Given the description of an element on the screen output the (x, y) to click on. 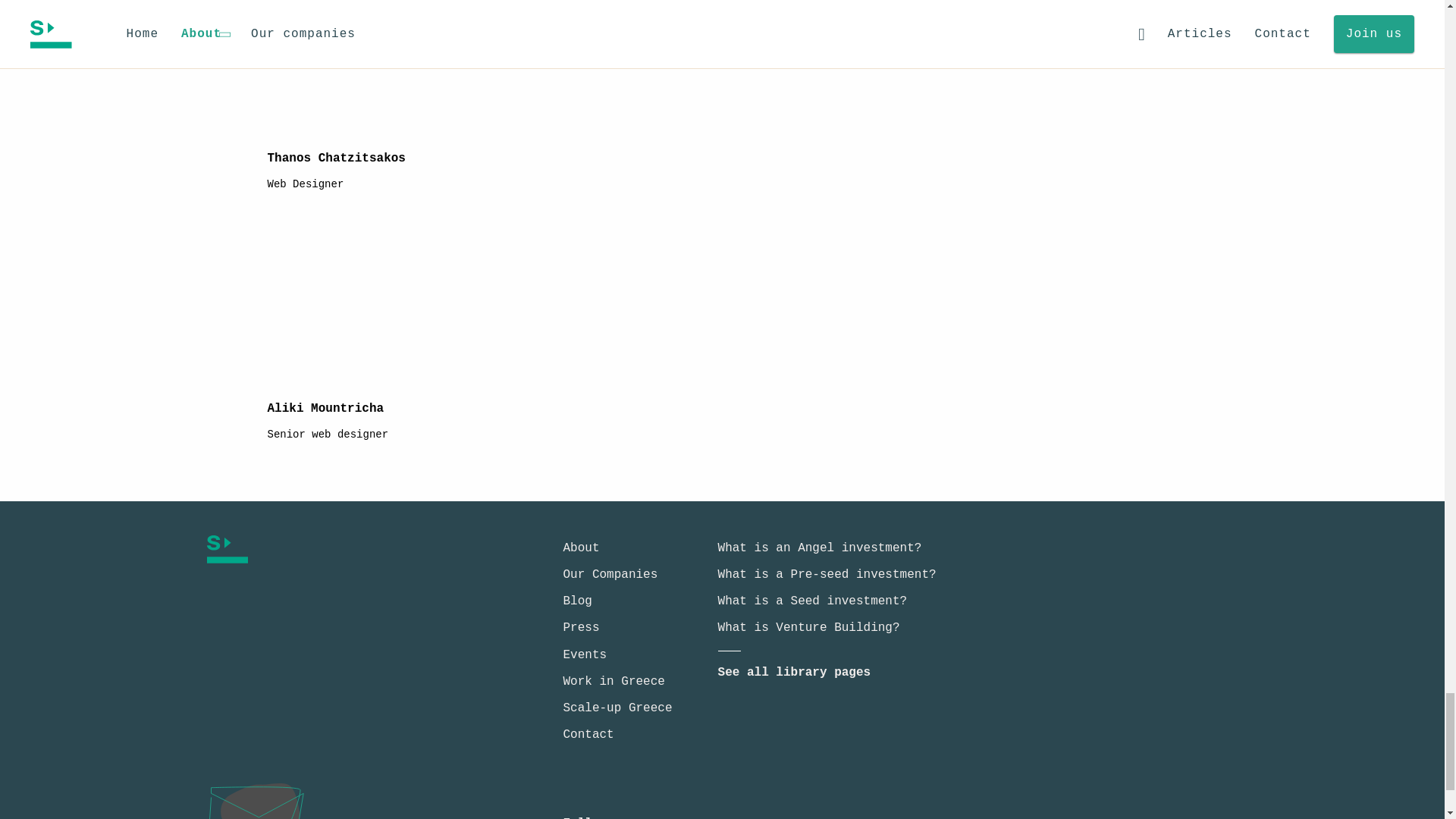
Press (580, 627)
Our Companies (610, 574)
About (580, 548)
What is a Pre-seed investment? (826, 574)
Starttech Ventures (341, 549)
Blog (576, 601)
Work in Greece (612, 681)
Scale-up Greece (616, 707)
Events (584, 654)
What is a Seed investment? (812, 601)
